Given the description of an element on the screen output the (x, y) to click on. 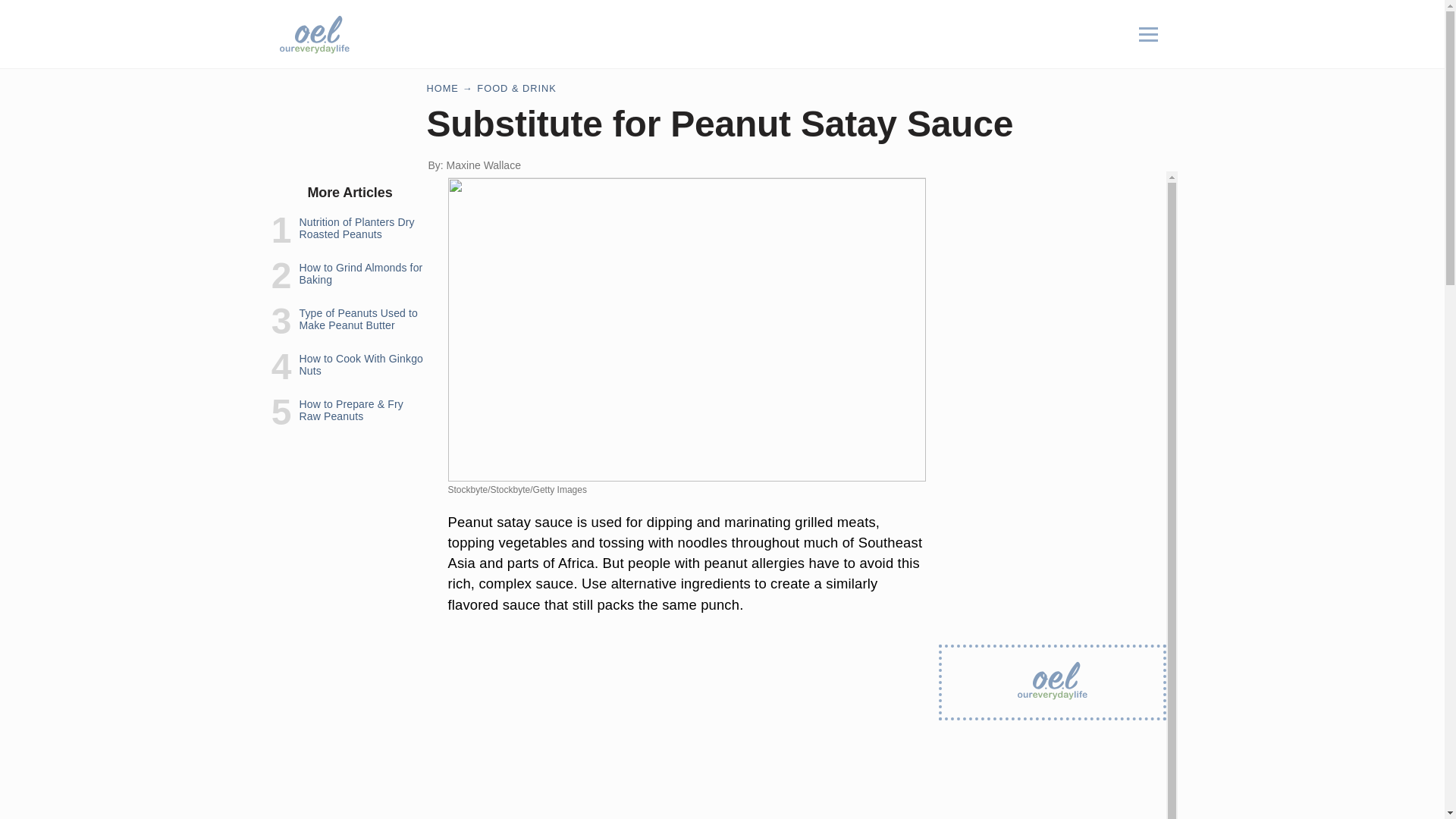
Nutrition of Planters Dry Roasted Peanuts (355, 228)
Type of Peanuts Used to Make Peanut Butter (357, 319)
HOME (442, 88)
How to Grind Almonds for Baking (360, 273)
How to Cook With Ginkgo Nuts (360, 364)
